Given the description of an element on the screen output the (x, y) to click on. 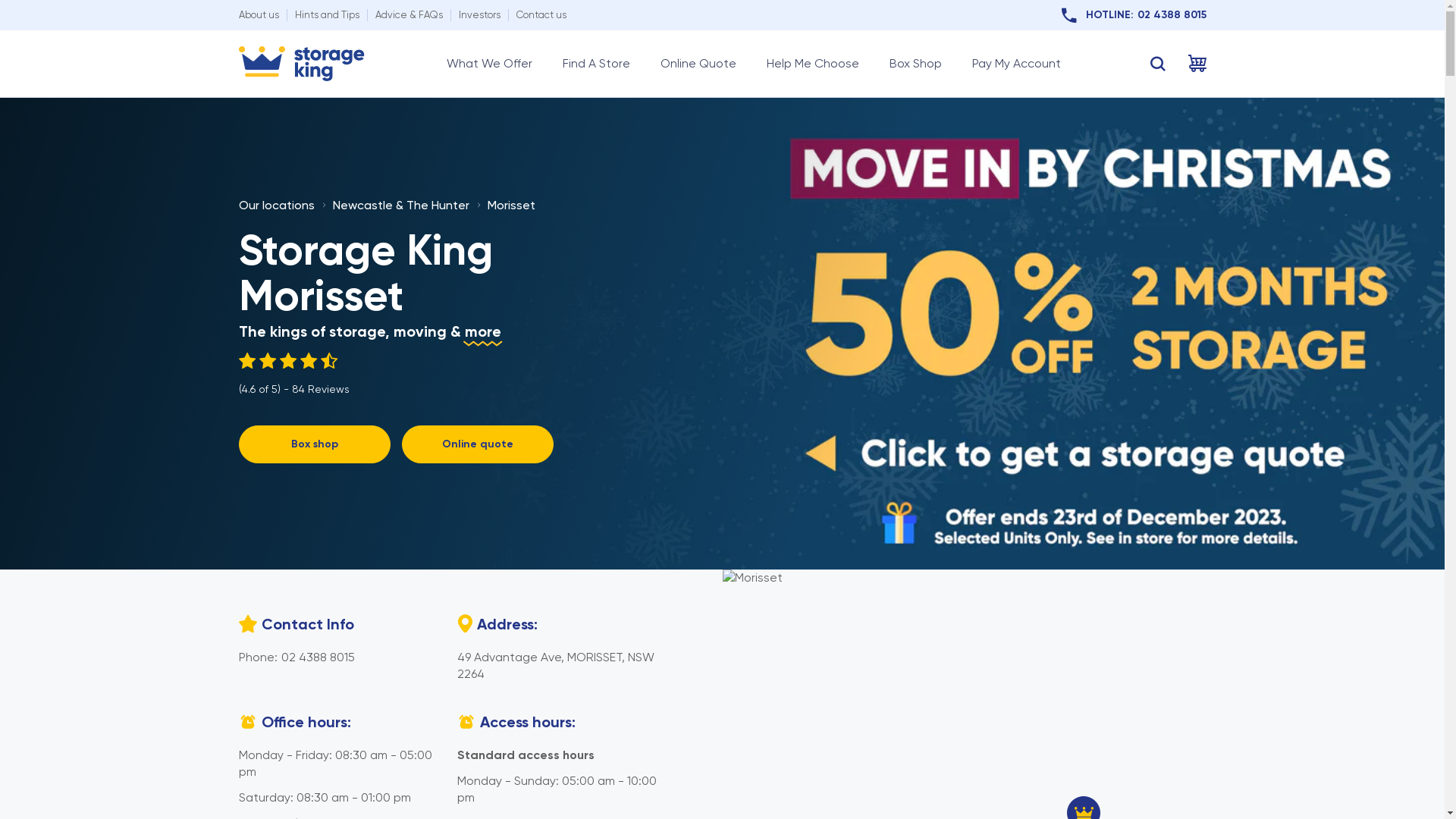
Investors Element type: text (478, 15)
Advice & FAQs Element type: text (408, 15)
Our locations Element type: text (275, 204)
Morisset Element type: text (510, 204)
Help Me Choose Element type: text (811, 63)
49 Advantage Ave, MORISSET, NSW 2264 Element type: text (554, 664)
Online quote Element type: text (477, 444)
What We Offer Element type: text (488, 63)
About us Element type: text (258, 15)
Box shop Element type: text (313, 444)
Newcastle & The Hunter Element type: text (400, 204)
Contact us Element type: text (540, 15)
02 4388 8015 Element type: text (317, 656)
Hints and Tips Element type: text (326, 15)
Box Shop Element type: text (914, 63)
(4.6 of 5) - 84 Reviews Element type: text (293, 374)
Find A Store Element type: text (596, 63)
4.60 Element type: hover (293, 360)
Online Quote Element type: text (697, 63)
HOTLINE:
02 4388 8015 Element type: text (1133, 14)
Pay My Account Element type: text (1016, 63)
